Given the description of an element on the screen output the (x, y) to click on. 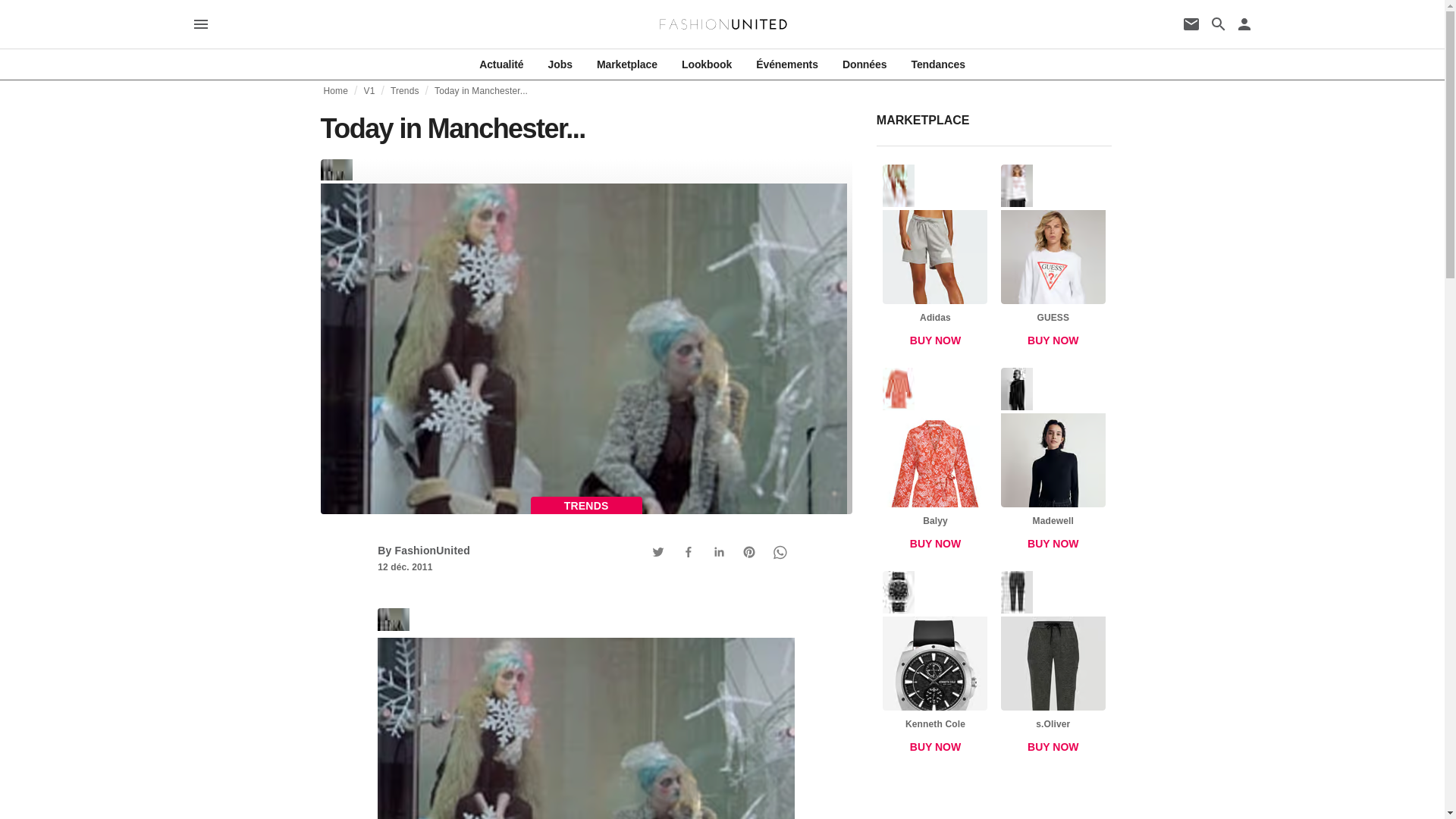
3rd party ad content (994, 802)
V1 (369, 90)
Jobs (560, 64)
Today in Manchester... (585, 713)
Tendances (937, 64)
BUY NOW (1053, 543)
BUY NOW (935, 747)
Lookbook (706, 64)
Trends (404, 90)
BUY NOW (1053, 747)
Marketplace (627, 64)
BUY NOW (935, 543)
BUY NOW (935, 340)
Home (335, 90)
